Given the description of an element on the screen output the (x, y) to click on. 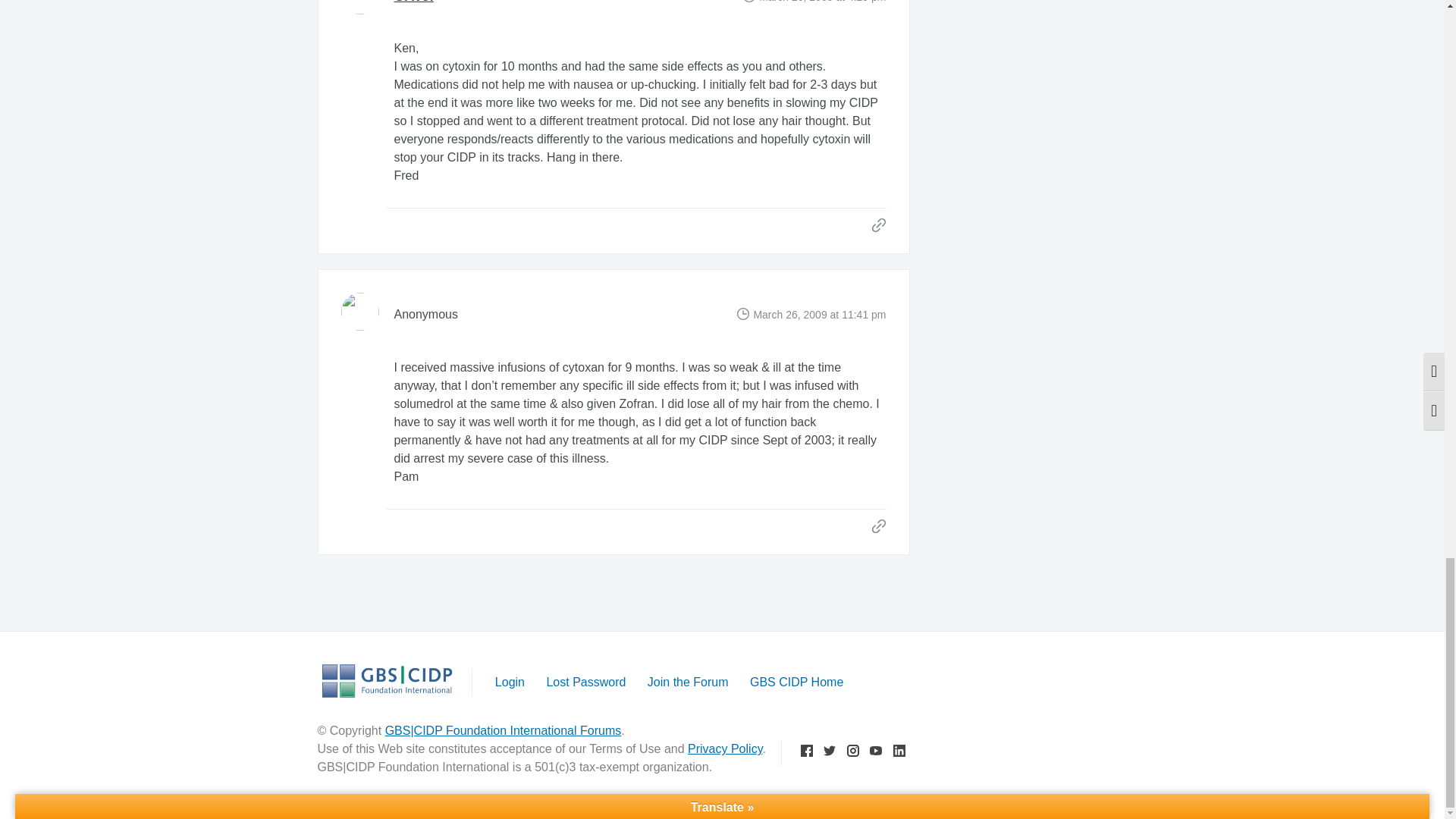
GAVol (413, 2)
